Given the description of an element on the screen output the (x, y) to click on. 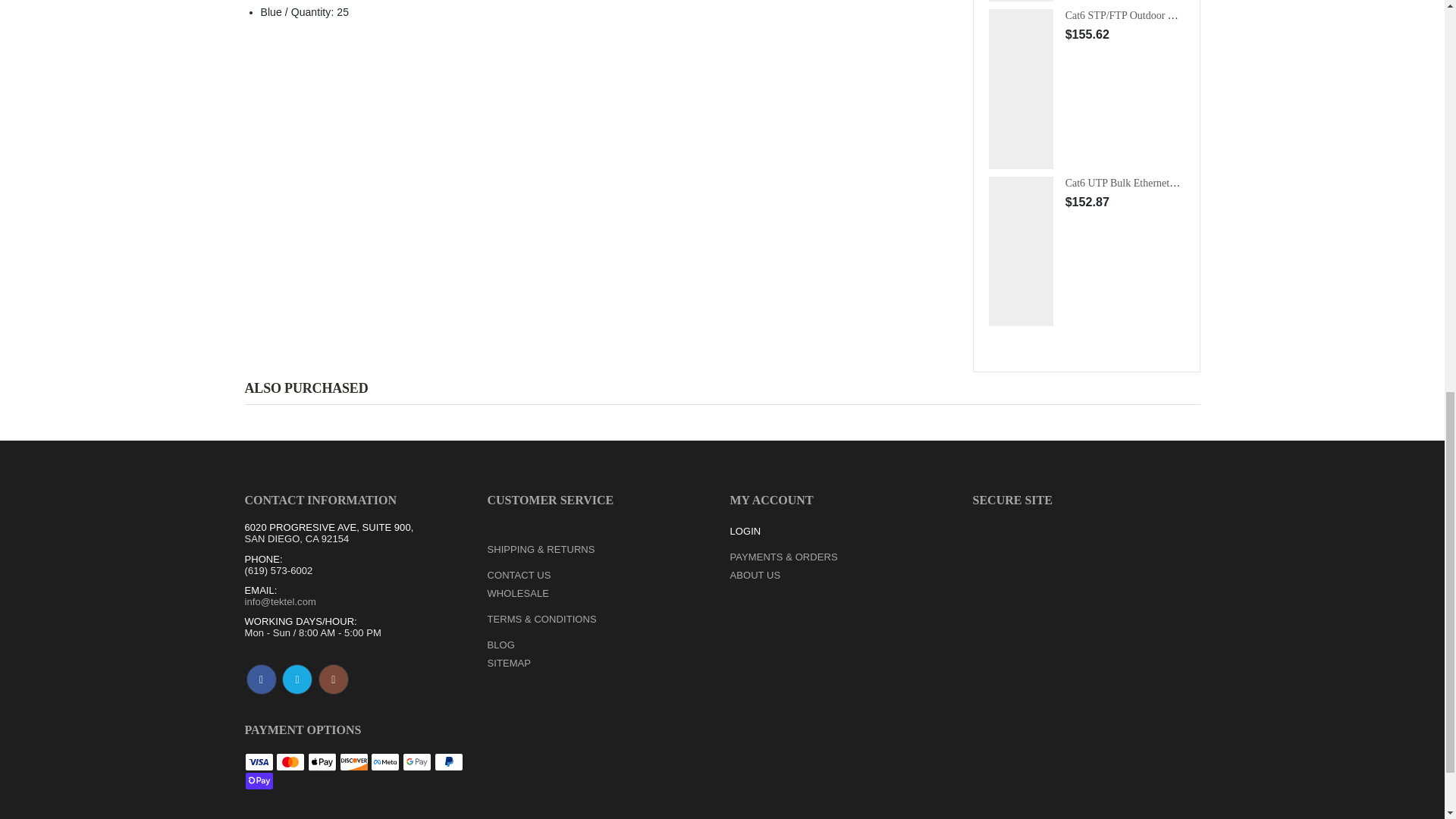
PayPal (448, 761)
Meta Pay (384, 761)
Google Pay (416, 761)
Shop Pay (258, 781)
Discover (353, 761)
Mastercard (290, 761)
Apple Pay (321, 761)
Visa (258, 761)
